Given the description of an element on the screen output the (x, y) to click on. 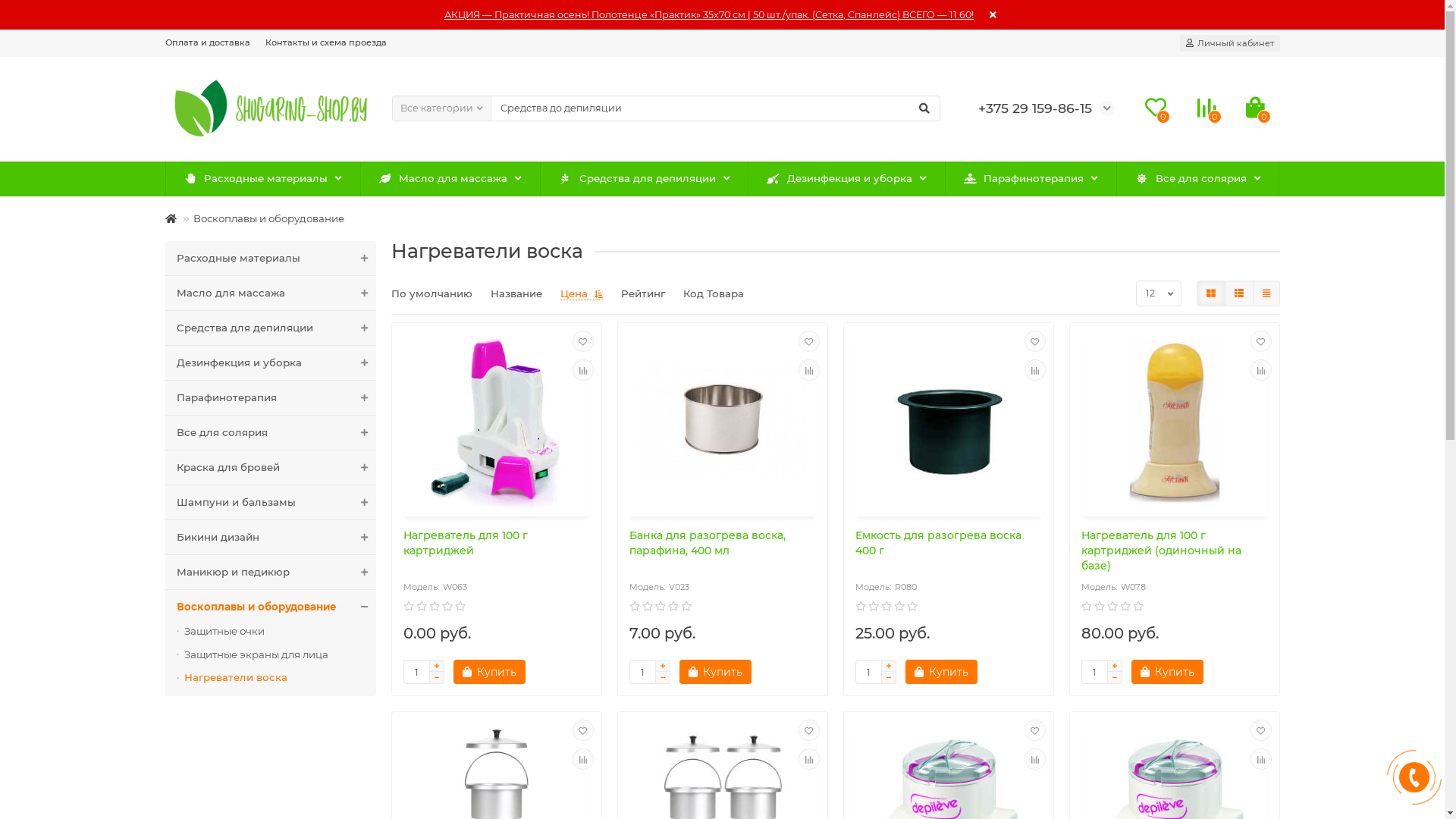
shugaring-shop Element type: hover (270, 108)
0 Element type: text (1254, 108)
